Given the description of an element on the screen output the (x, y) to click on. 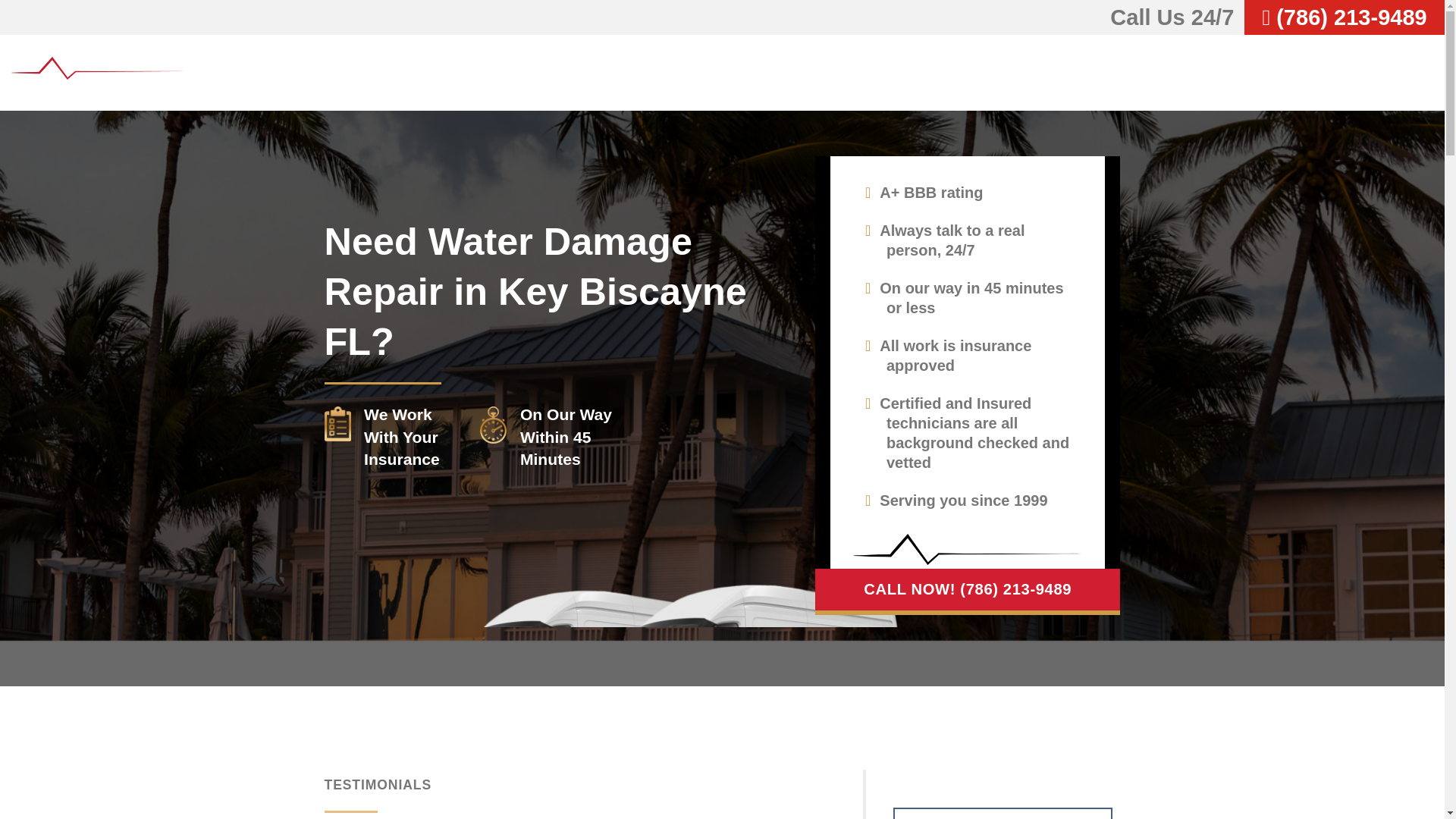
EMERGENCY SERVICES (1003, 813)
Contact (1401, 72)
Services (1178, 72)
Restoration Doctor FL (98, 73)
About (1096, 72)
Testimonials (1280, 72)
